Given the description of an element on the screen output the (x, y) to click on. 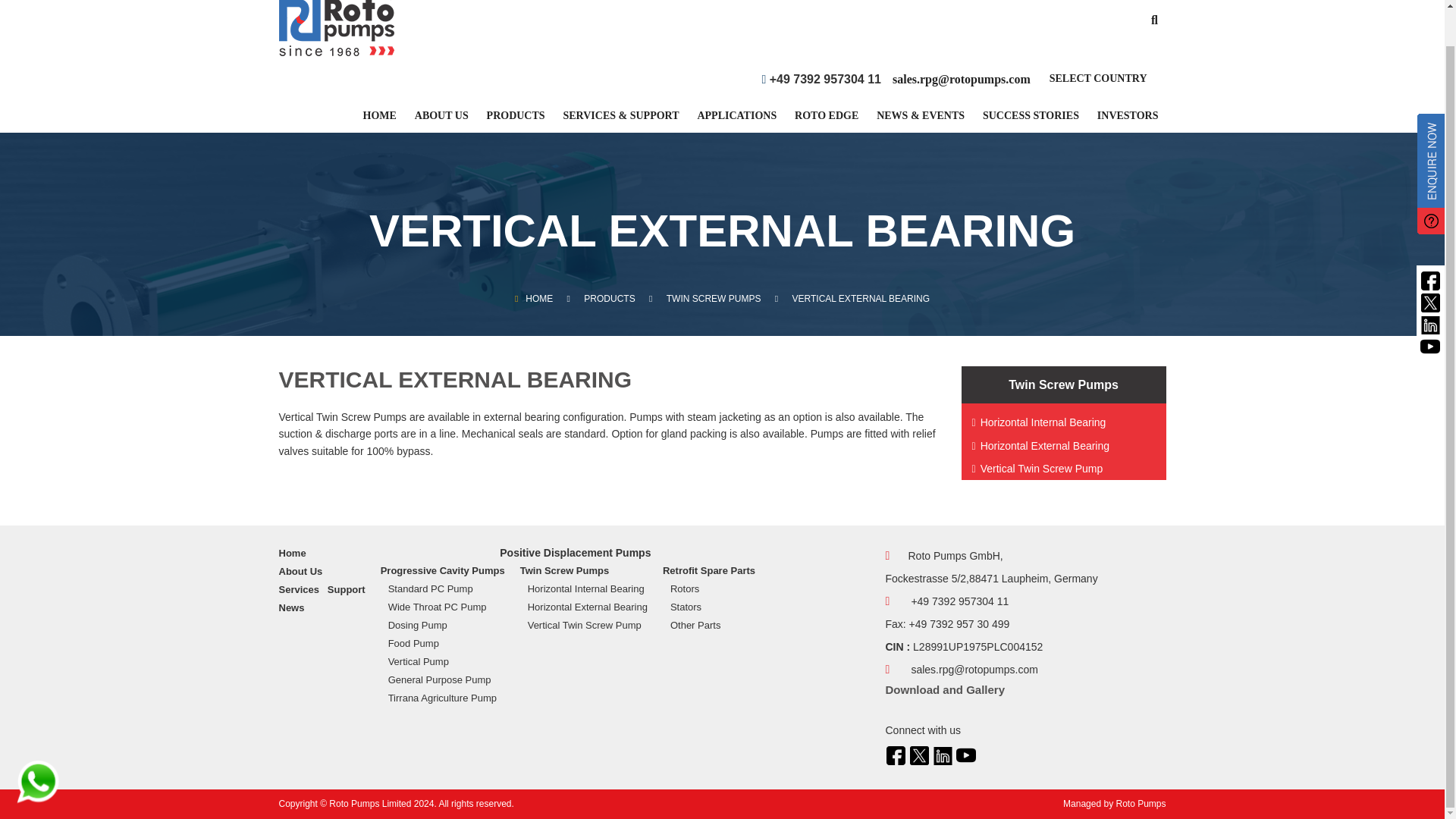
Positive Displacement Pumps (574, 552)
SELECT COUNTRY (1098, 84)
Food Pump (446, 643)
PRODUCTS (515, 121)
Industrial Pumps Manufacturers Company (336, 28)
Dosing Pump (446, 625)
HOME (379, 121)
General Purpose Pump (446, 679)
Vertical Pump (446, 661)
Wide Throat PC Pump (446, 607)
Progressive Cavity Pumps (442, 570)
ABOUT US (441, 121)
Tirrana Agriculture Pump (446, 698)
Standard PC Pump (446, 588)
